Given the description of an element on the screen output the (x, y) to click on. 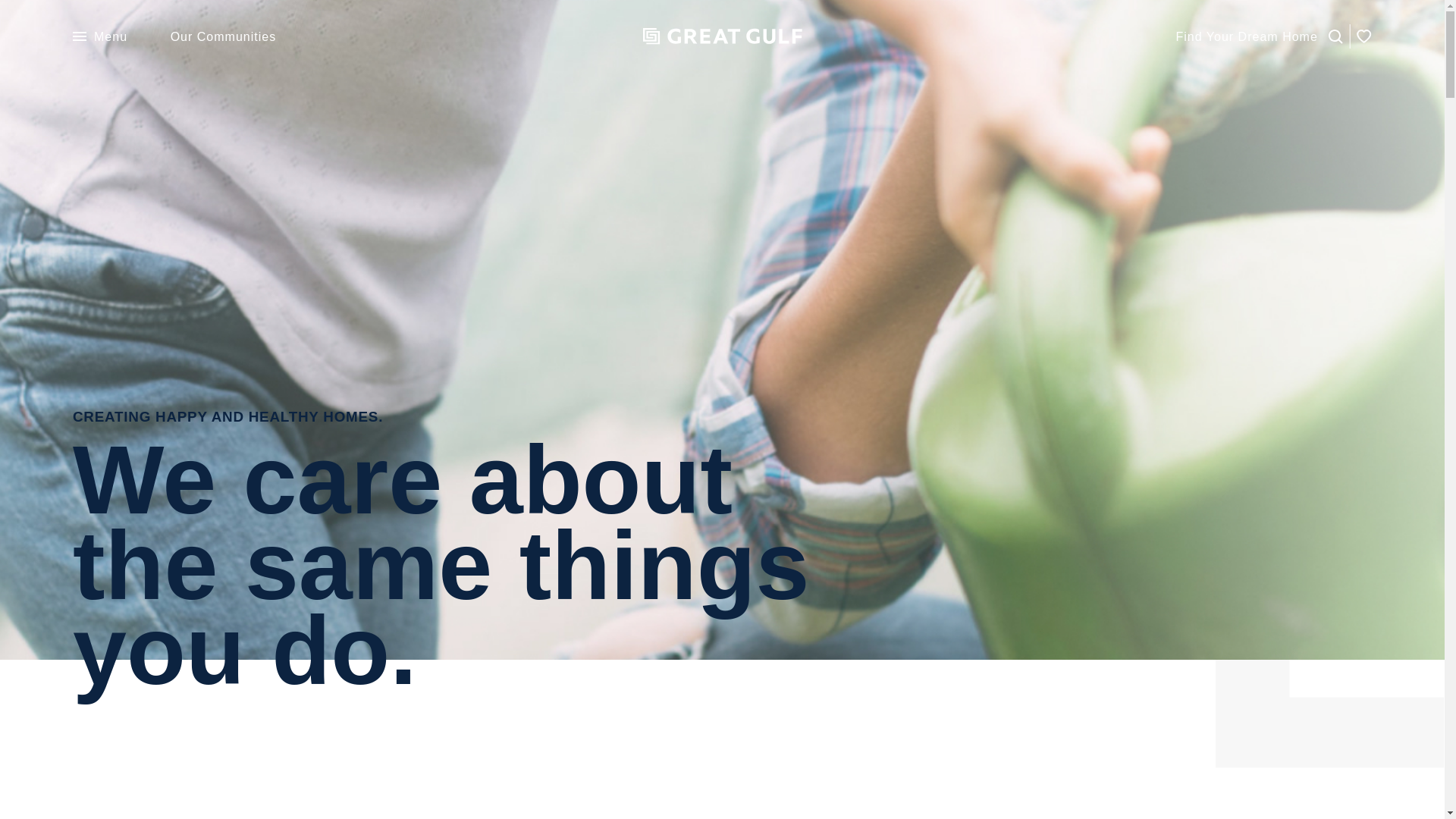
Our Communities (223, 36)
Find Your Dream Home (1245, 36)
Menu (100, 36)
